Given the description of an element on the screen output the (x, y) to click on. 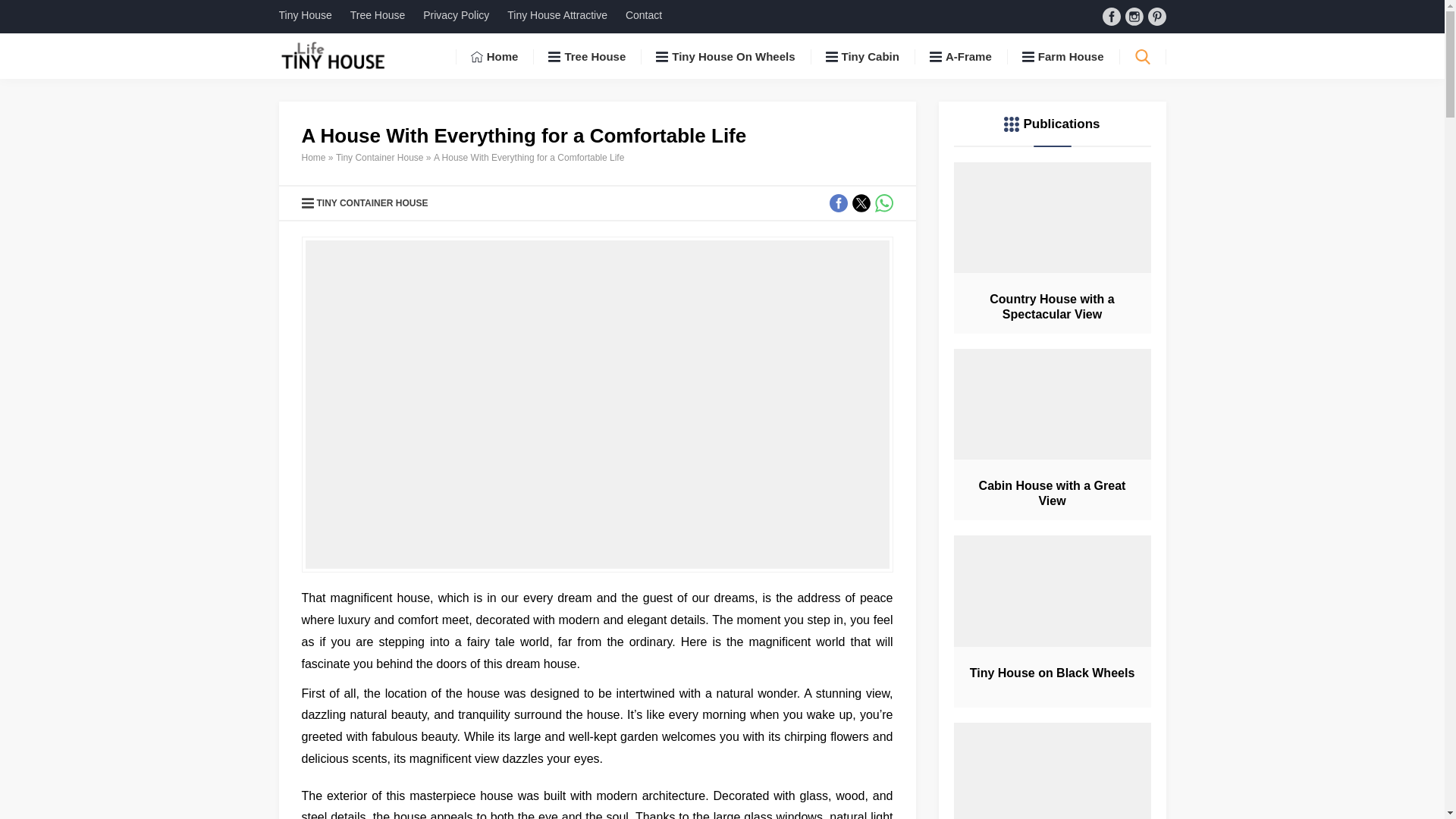
Tiny Container House (379, 157)
Tiny House On Wheels (724, 55)
Tree House (586, 55)
Share this on WhatsApp (884, 203)
Privacy Policy (456, 14)
Pinterest (1157, 16)
Facebook (1111, 16)
Farm House (1063, 55)
Tiny House Attractive (556, 14)
Tiny House (305, 14)
Life Tiny House (333, 55)
Tiny Cabin (862, 55)
TINY CONTAINER HOUSE (372, 203)
Home (494, 55)
Share this on Twitter (860, 203)
